Given the description of an element on the screen output the (x, y) to click on. 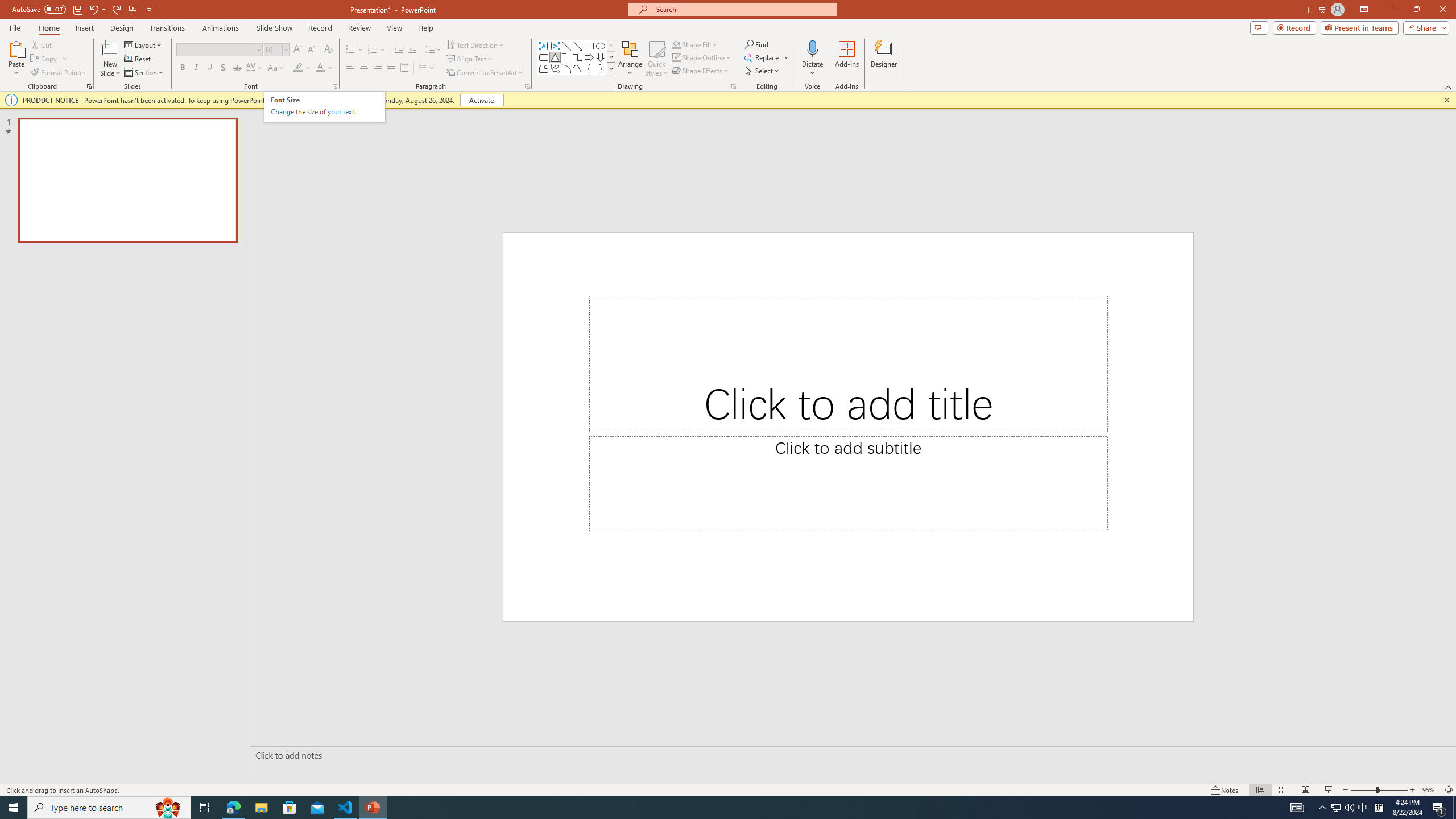
Genko Setting... (384, 92)
&View (167, 184)
